Given the description of an element on the screen output the (x, y) to click on. 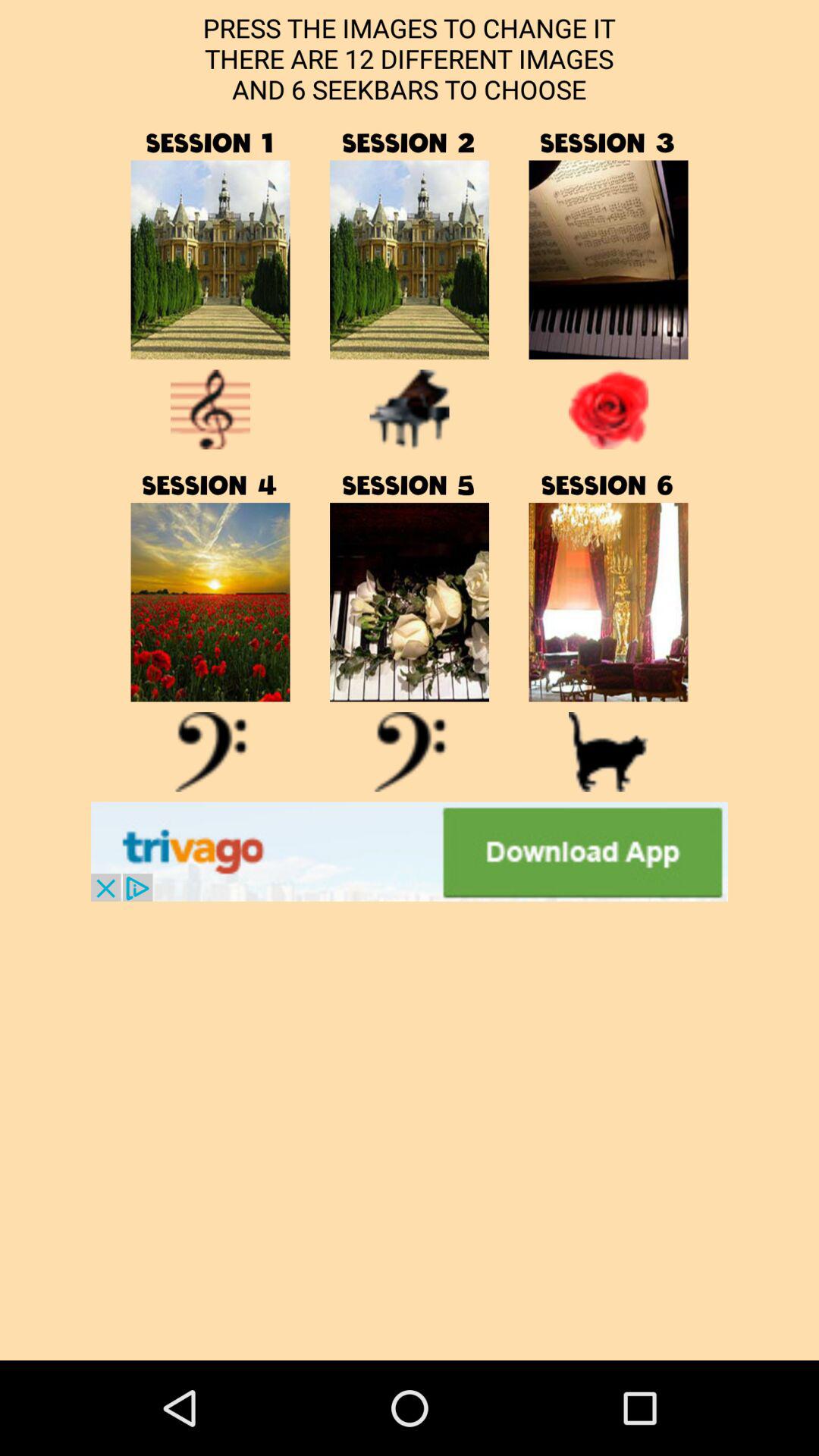
open (210, 751)
